Given the description of an element on the screen output the (x, y) to click on. 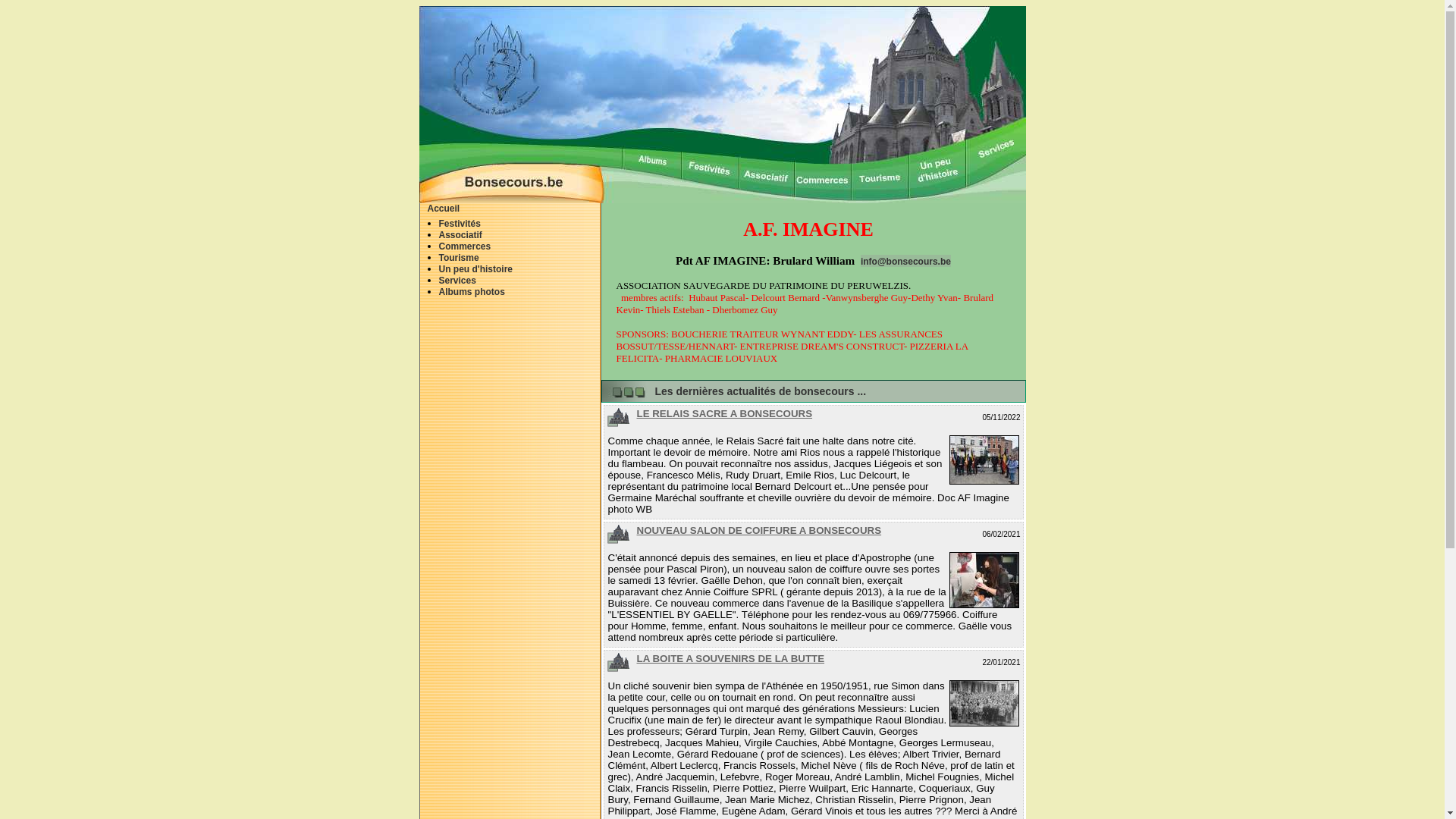
Albums photos Element type: text (471, 291)
info@bonsecours.be Element type: text (905, 261)
Associatif Element type: text (459, 234)
Accueil Element type: text (443, 208)
Commerces Element type: text (464, 246)
Services Element type: text (456, 280)
Un peu d'histoire Element type: text (475, 268)
Tourisme Element type: text (458, 257)
